Given the description of an element on the screen output the (x, y) to click on. 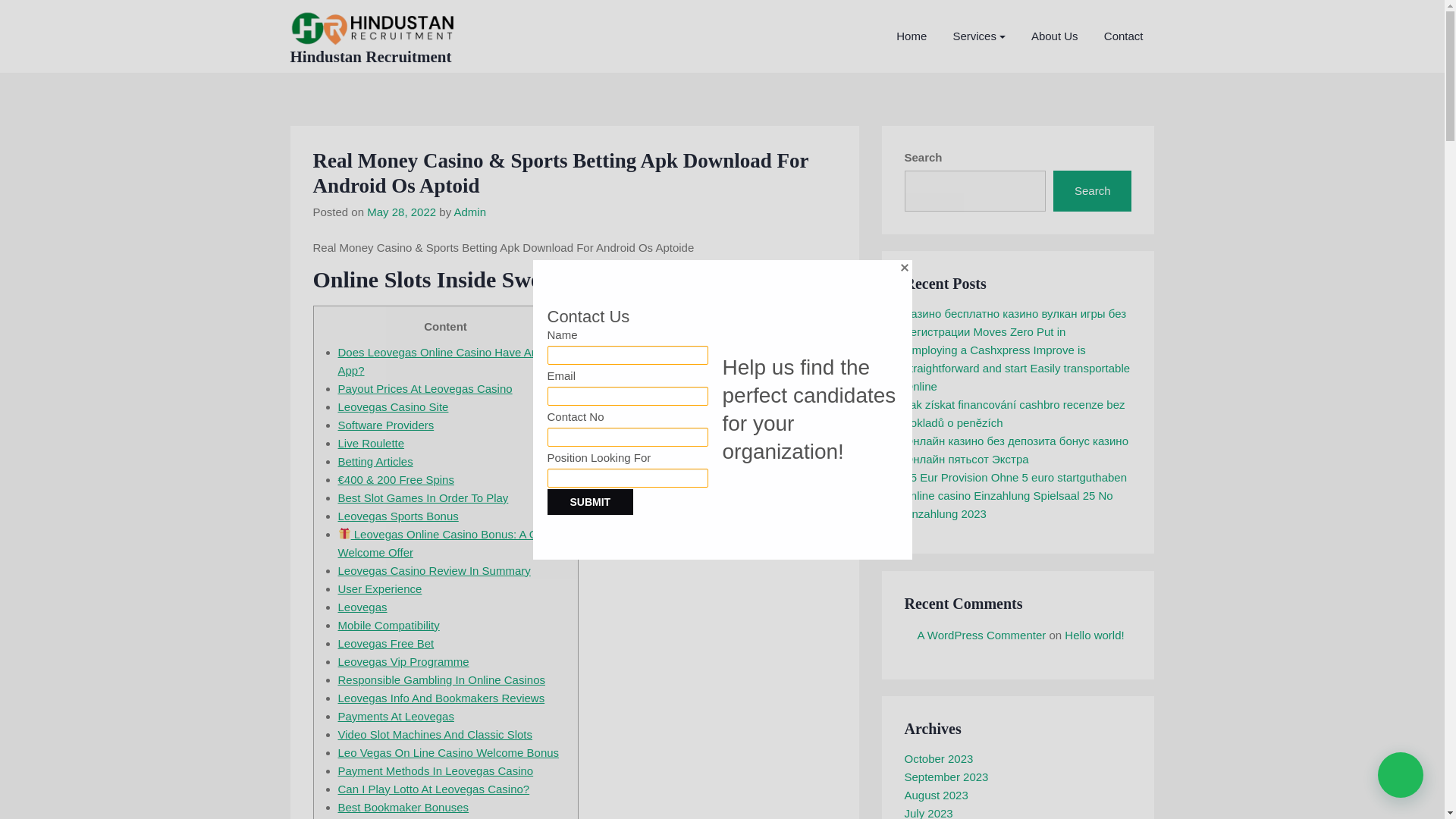
Contact (1123, 36)
Home (911, 36)
Payout Prices At Leovegas Casino (424, 388)
Best Slot Games In Order To Play (422, 497)
May 28, 2022 (400, 211)
Software Providers (385, 424)
Admin (469, 211)
Leovegas Info And Bookmakers Reviews (440, 697)
Leovegas Vip Programme (402, 661)
Leovegas Free Bet (385, 643)
